Given the description of an element on the screen output the (x, y) to click on. 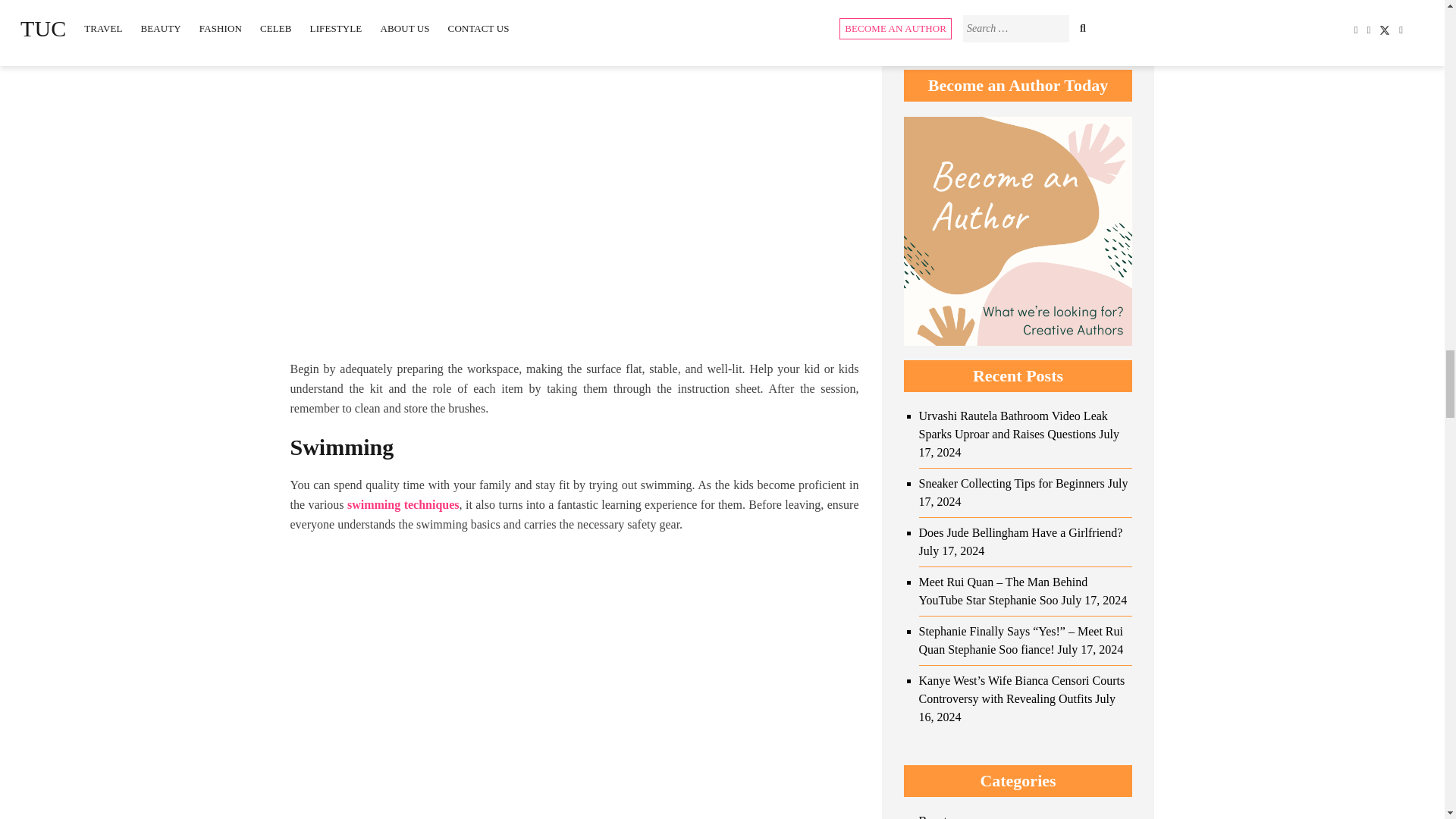
swimming techniques (403, 504)
